Given the description of an element on the screen output the (x, y) to click on. 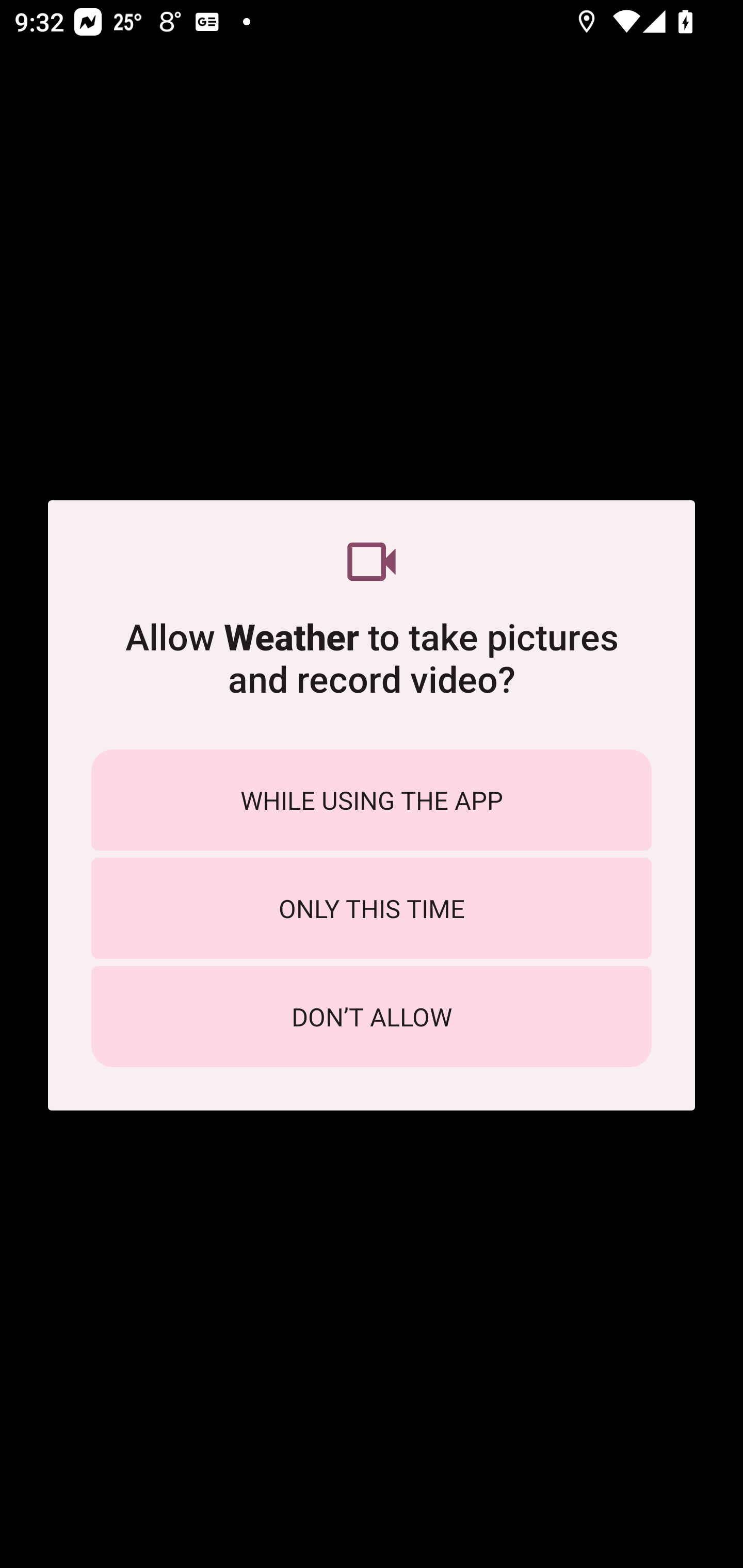
WHILE USING THE APP (371, 799)
ONLY THIS TIME (371, 908)
DON’T ALLOW (371, 1016)
